Given the description of an element on the screen output the (x, y) to click on. 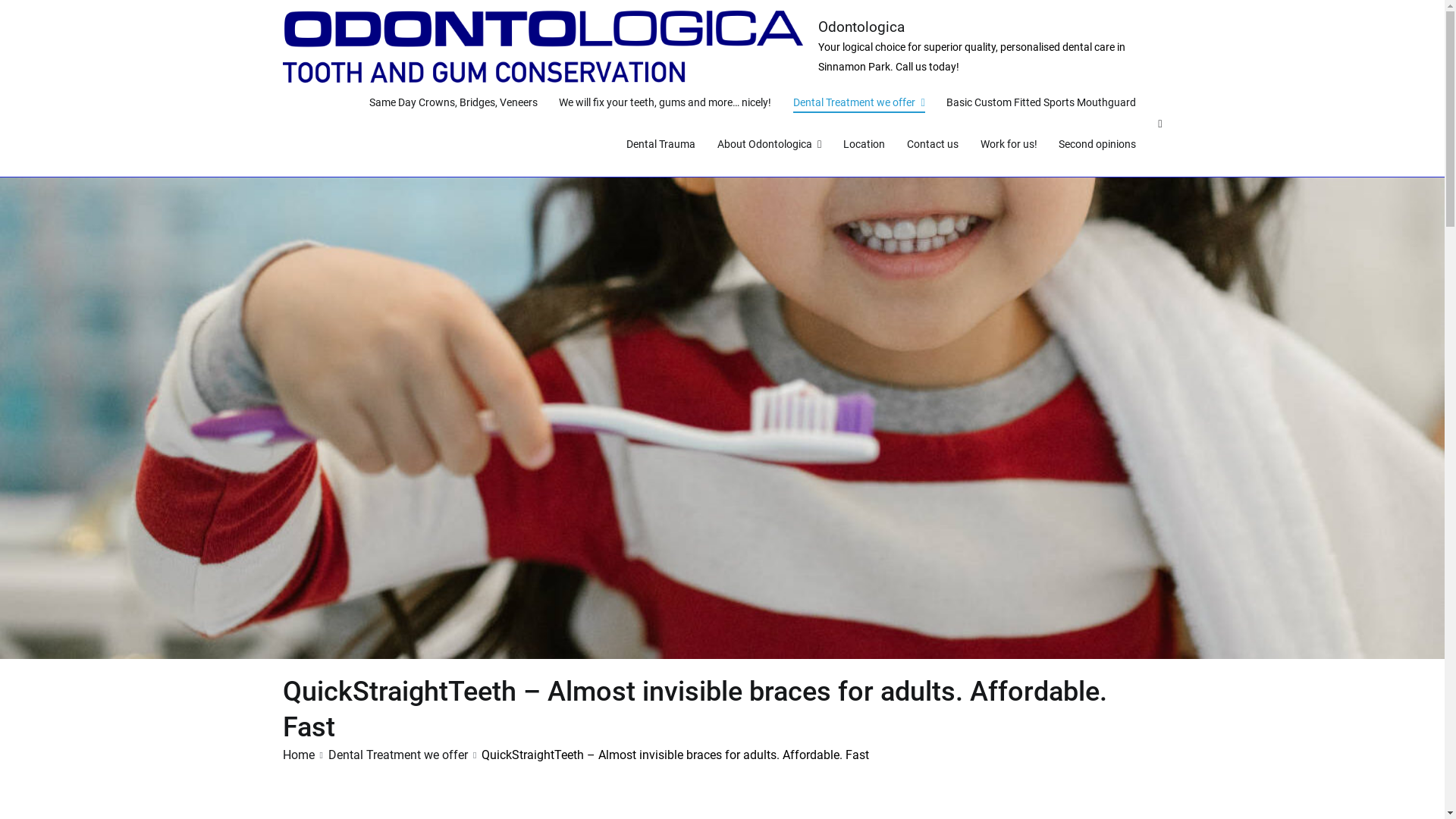
Location Element type: text (863, 144)
About Odontologica Element type: text (769, 144)
Search Element type: text (27, 14)
Contact us Element type: text (932, 144)
Odontologica Element type: text (861, 26)
Dental Treatment we offer Element type: text (397, 754)
Home Element type: text (297, 754)
Second opinions Element type: text (1096, 144)
Dental Treatment we offer Element type: text (858, 102)
Same Day Crowns, Bridges, Veneers Element type: text (453, 102)
Basic Custom Fitted Sports Mouthguard Element type: text (1040, 102)
Work for us! Element type: text (1008, 144)
Dental Trauma Element type: text (660, 144)
